Given the description of an element on the screen output the (x, y) to click on. 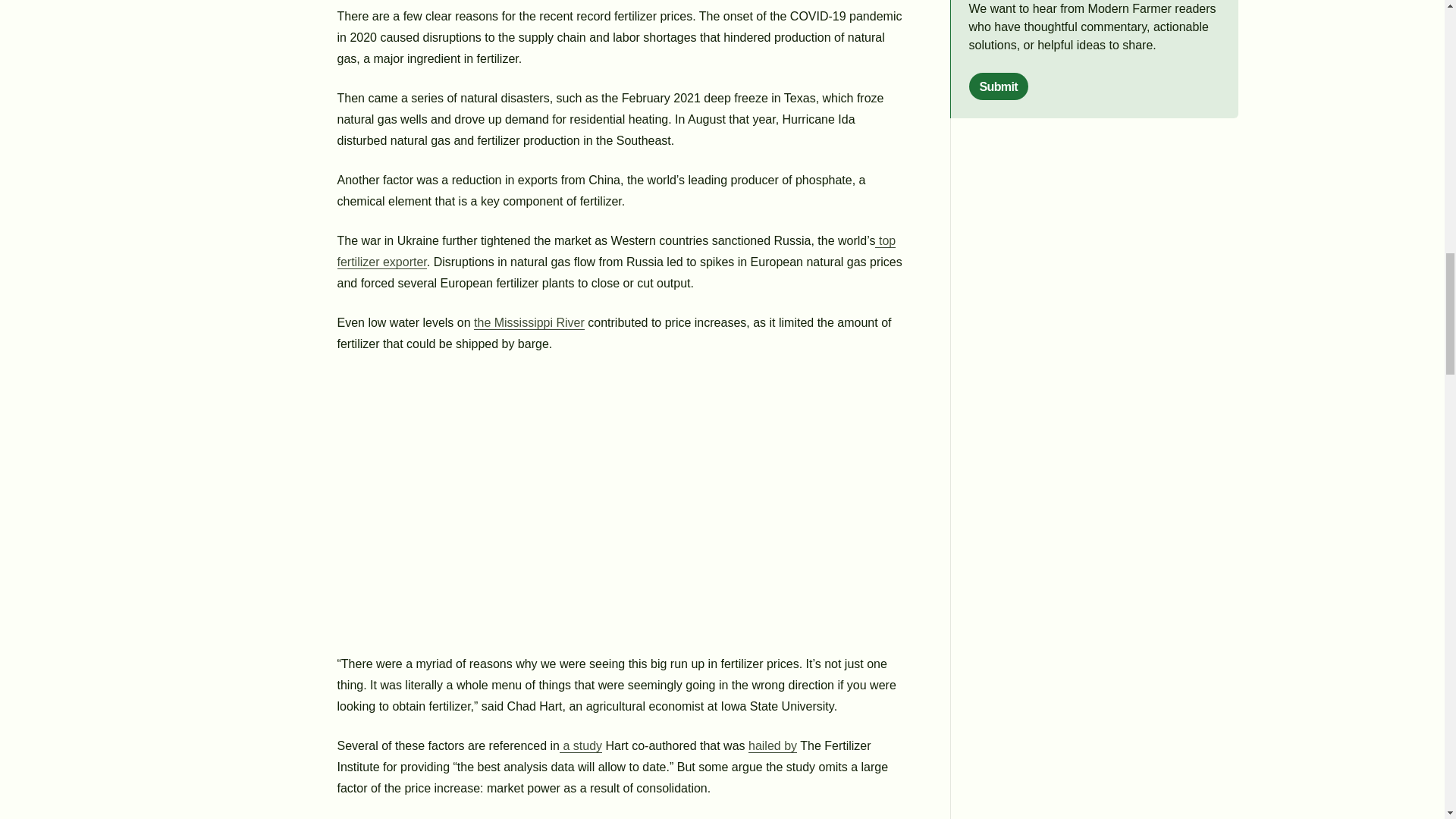
a study (580, 745)
top fertilizer exporter (615, 251)
the Mississippi River (529, 323)
